Given the description of an element on the screen output the (x, y) to click on. 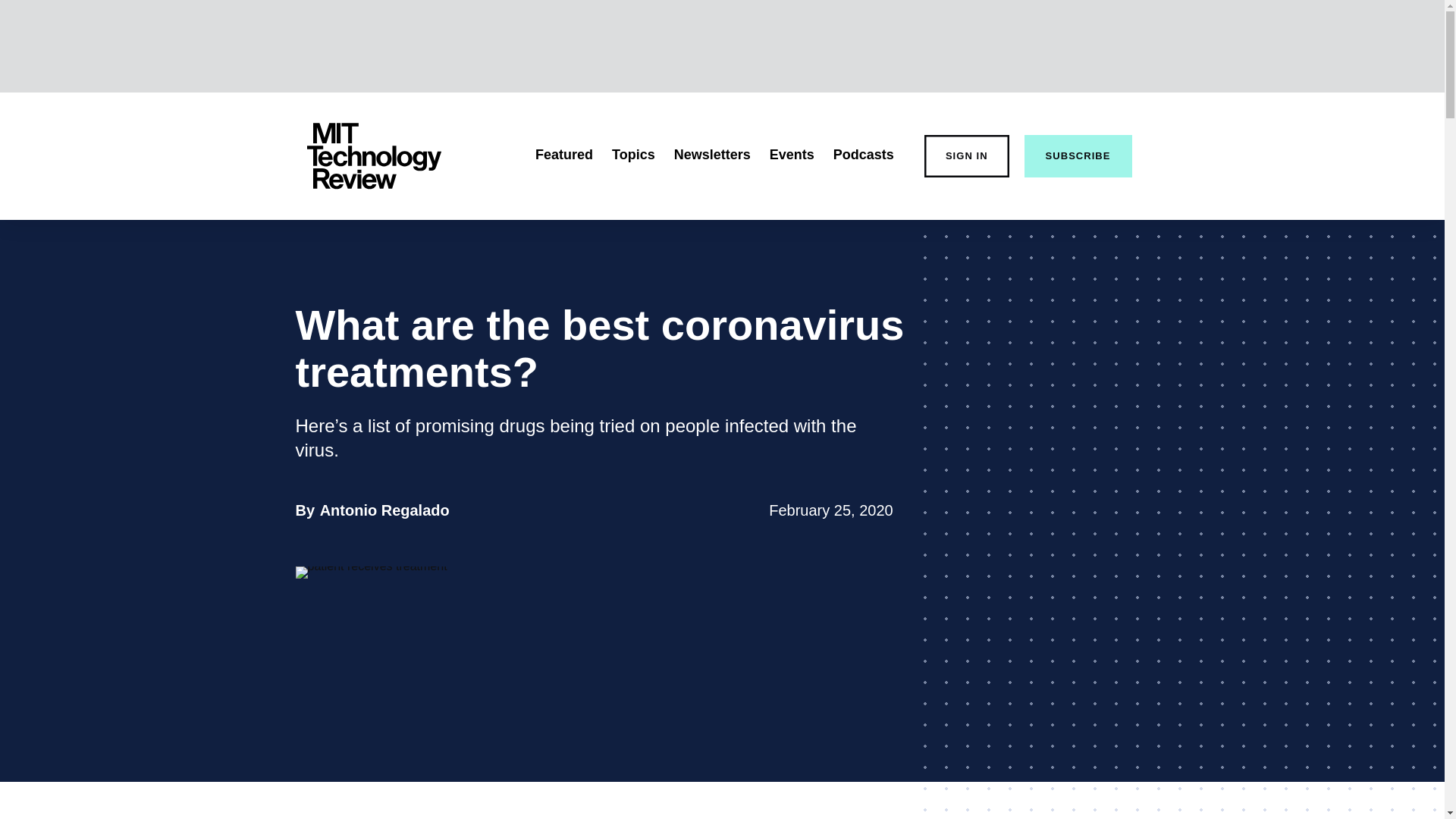
Events (791, 154)
Newsletters (712, 154)
Podcasts (862, 154)
SIGN IN (966, 156)
Topics (633, 154)
Featured (563, 154)
MIT Technology Review (384, 510)
SUBSCRIBE (373, 155)
